Given the description of an element on the screen output the (x, y) to click on. 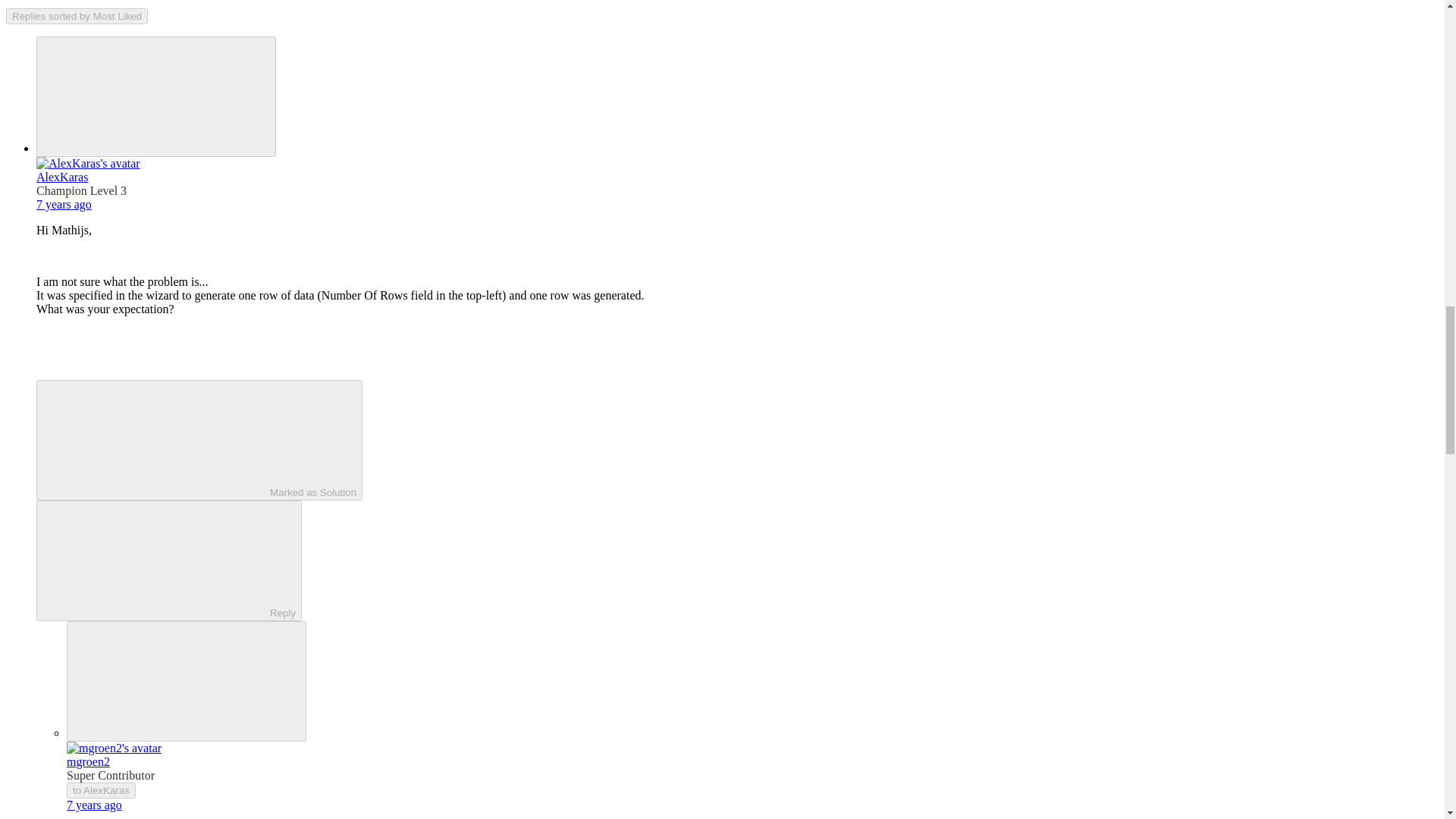
7 years ago (94, 804)
October 18, 2017 at 8:42 AM (63, 204)
7 years ago (63, 204)
to AlexKaras (100, 790)
ReplyReply (168, 560)
mgroen2 (88, 761)
Replies sorted by Most Liked (76, 16)
AlexKaras (61, 176)
October 18, 2017 at 1:23 PM (94, 804)
Marked as Solution (199, 440)
Reply (155, 559)
